Given the description of an element on the screen output the (x, y) to click on. 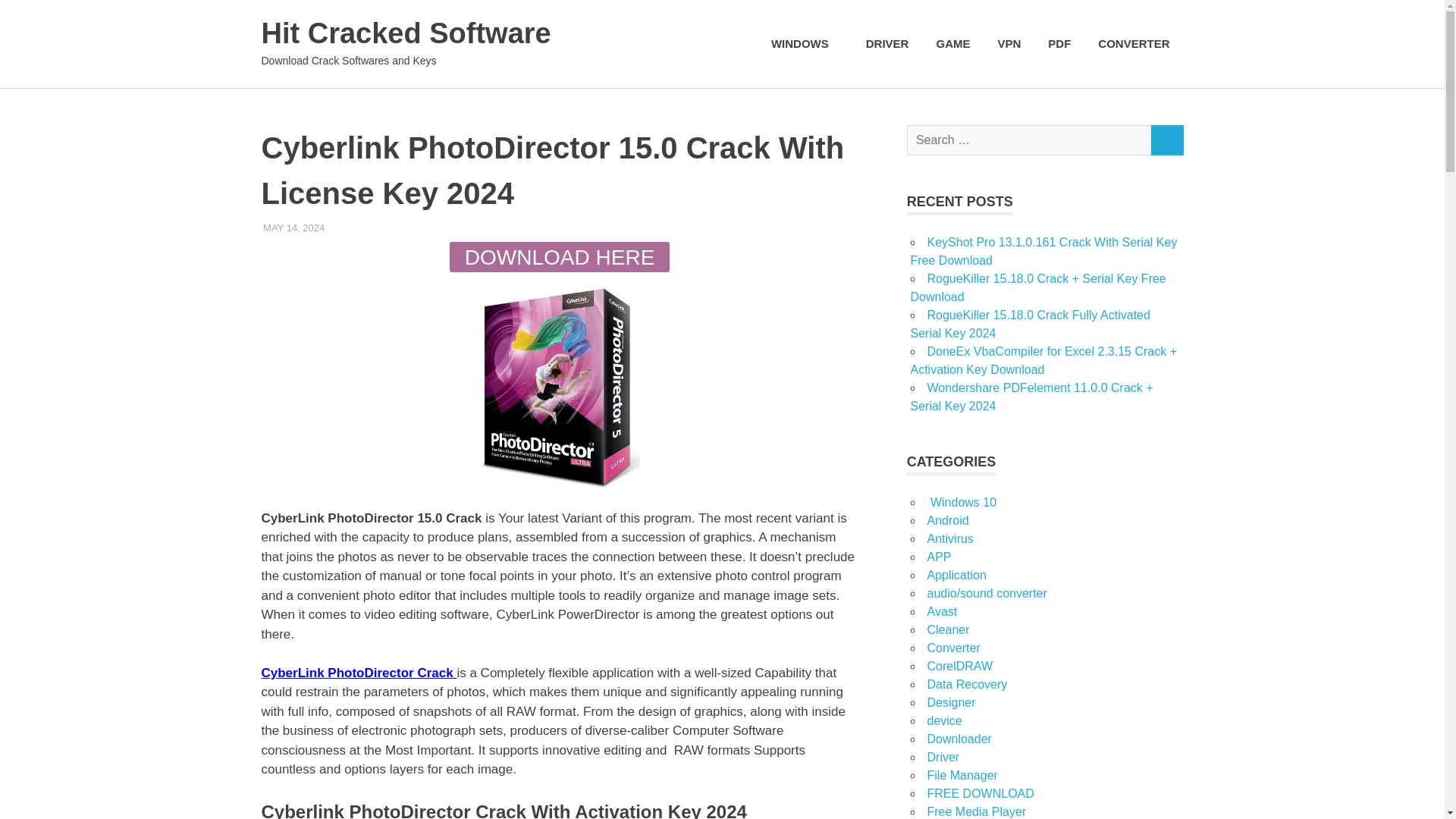
WINDOWS (804, 44)
GAME (952, 44)
DOWNLOAD HERE (559, 256)
HITCRACKED (356, 227)
PDF (1058, 44)
View all posts by hitcracked (356, 227)
MAY 14, 2024 (293, 227)
Hit Cracked Software (405, 33)
5:02 am (293, 227)
CONVERTER (1133, 44)
DRIVER (887, 44)
SOFTWARE (417, 227)
VPN (1008, 44)
MULTIMEDIA (354, 227)
Search for: (1029, 140)
